Given the description of an element on the screen output the (x, y) to click on. 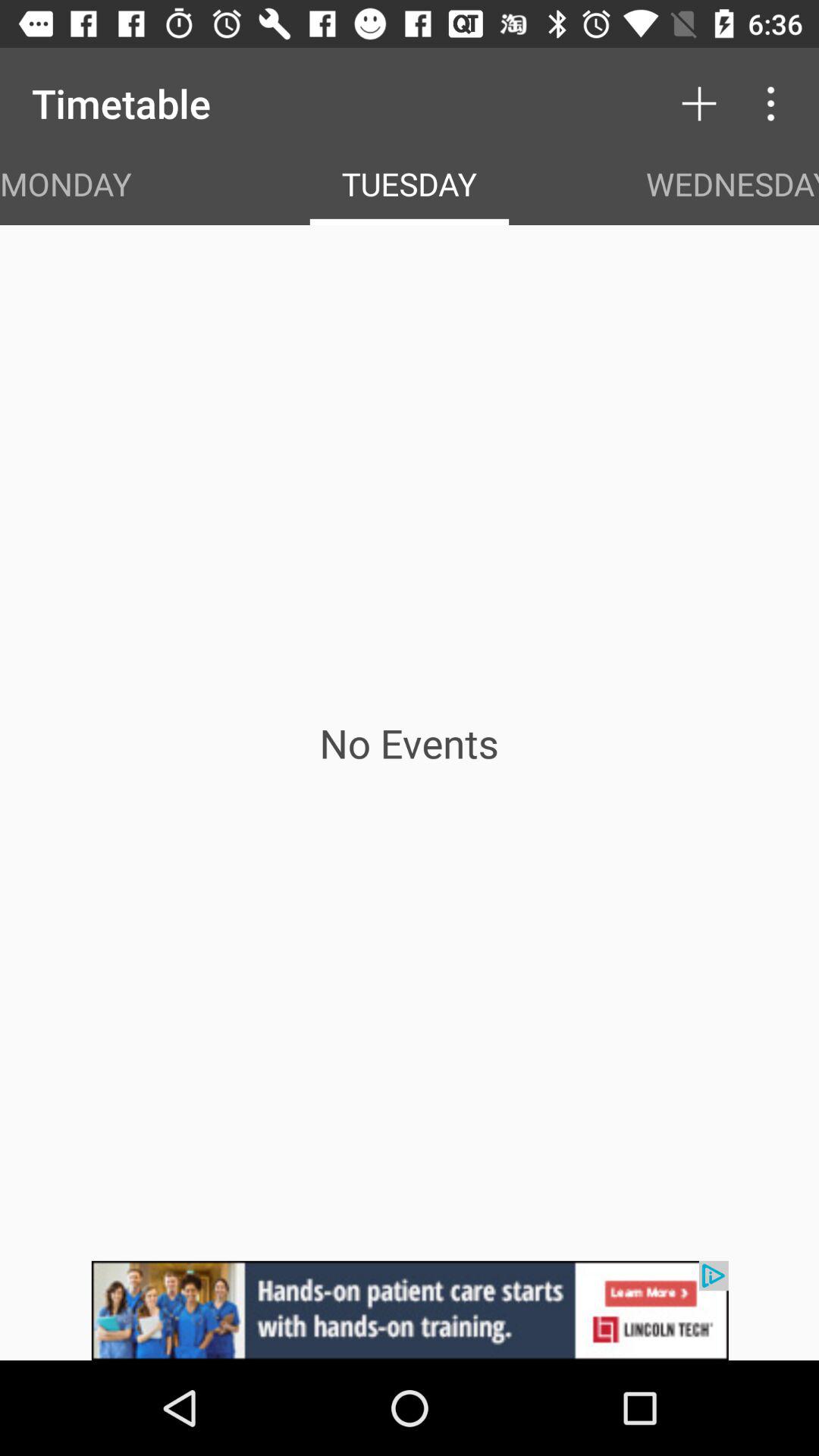
advertisement for lincoln tech (409, 1310)
